Given the description of an element on the screen output the (x, y) to click on. 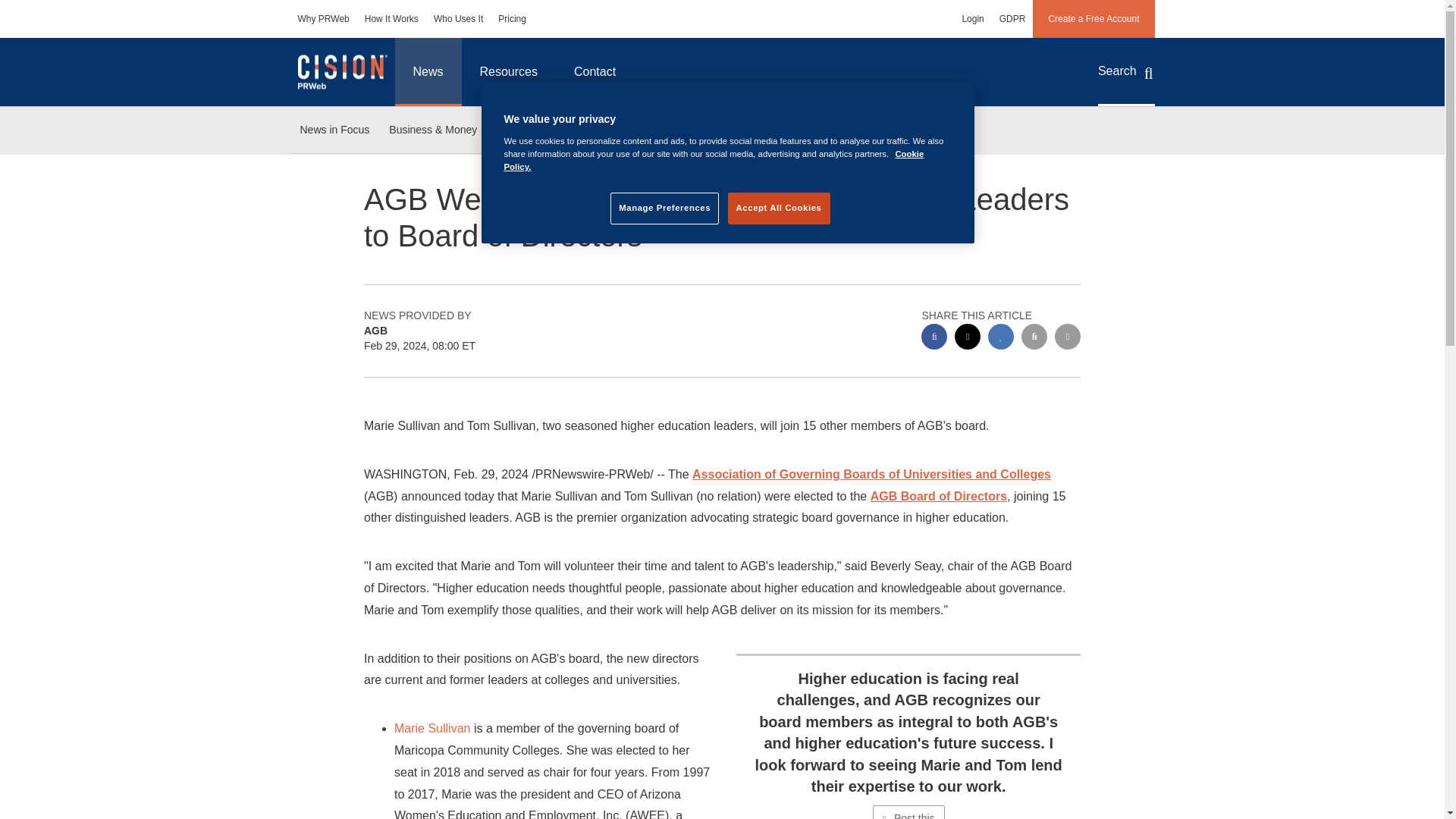
News in Focus (333, 130)
